Given the description of an element on the screen output the (x, y) to click on. 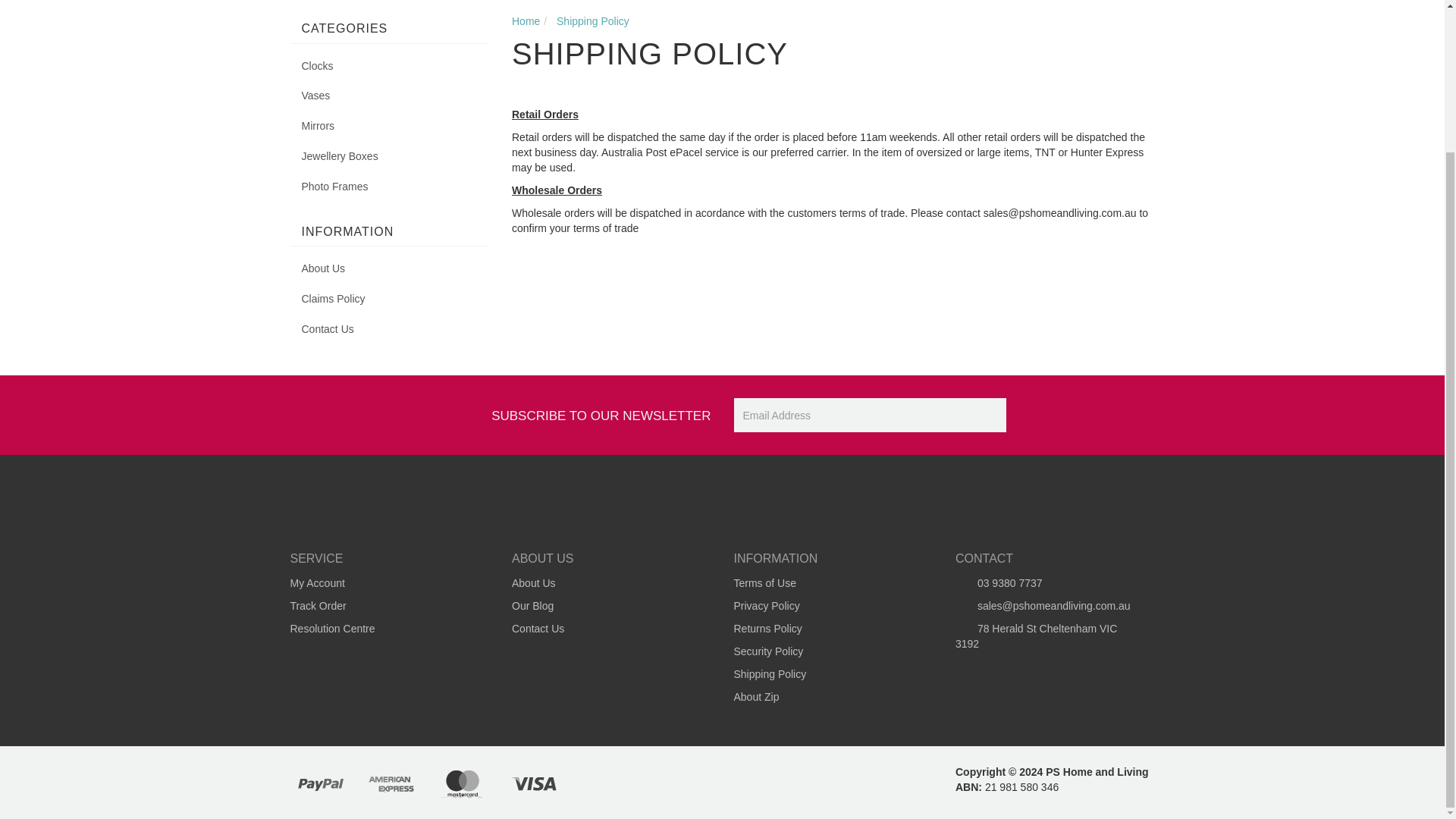
Clocks (389, 66)
Vases (389, 96)
Mirrors (389, 126)
